Given the description of an element on the screen output the (x, y) to click on. 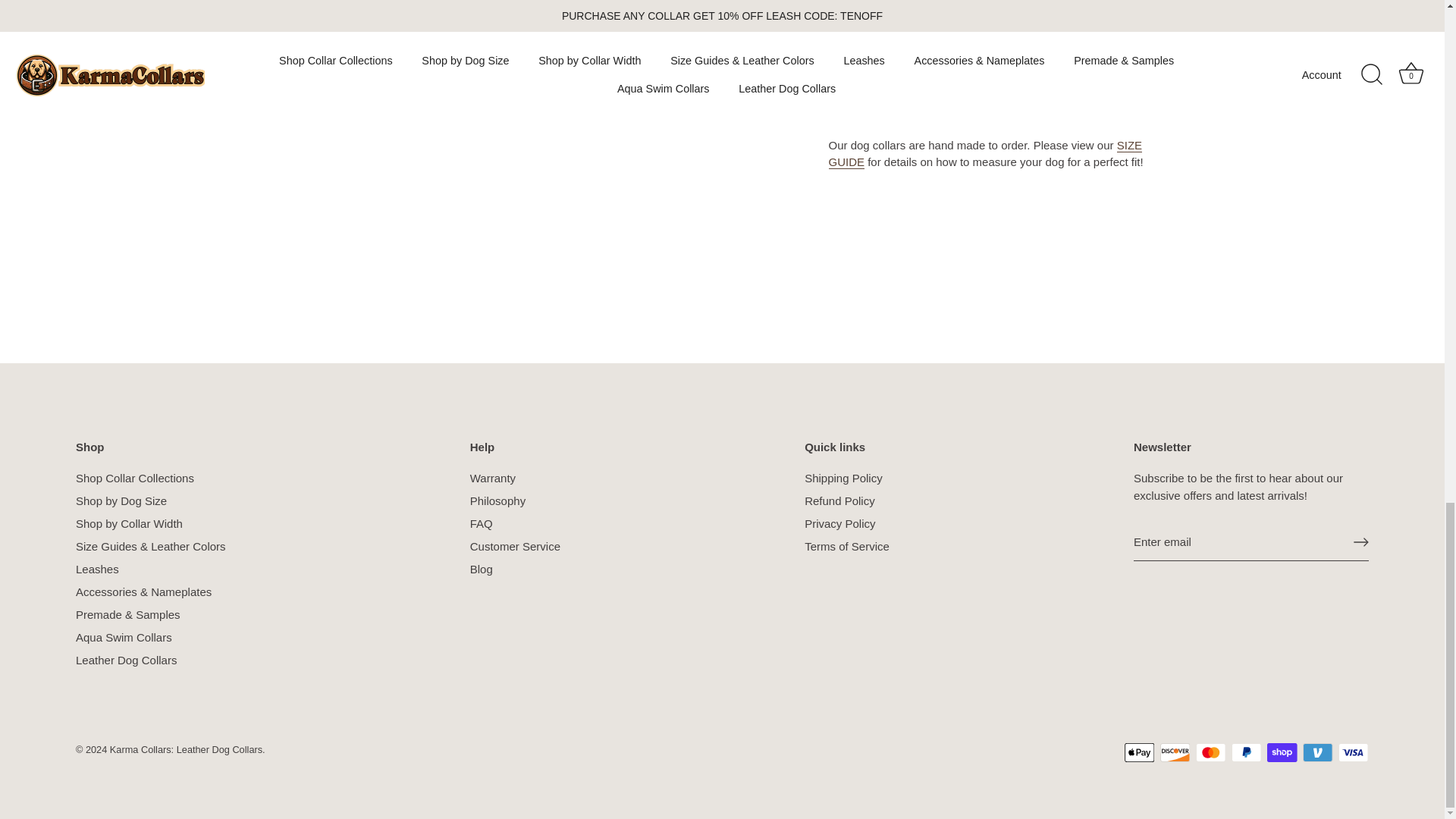
Apple Pay (1139, 752)
Right arrow long (1361, 541)
Discover (1174, 752)
